Given the description of an element on the screen output the (x, y) to click on. 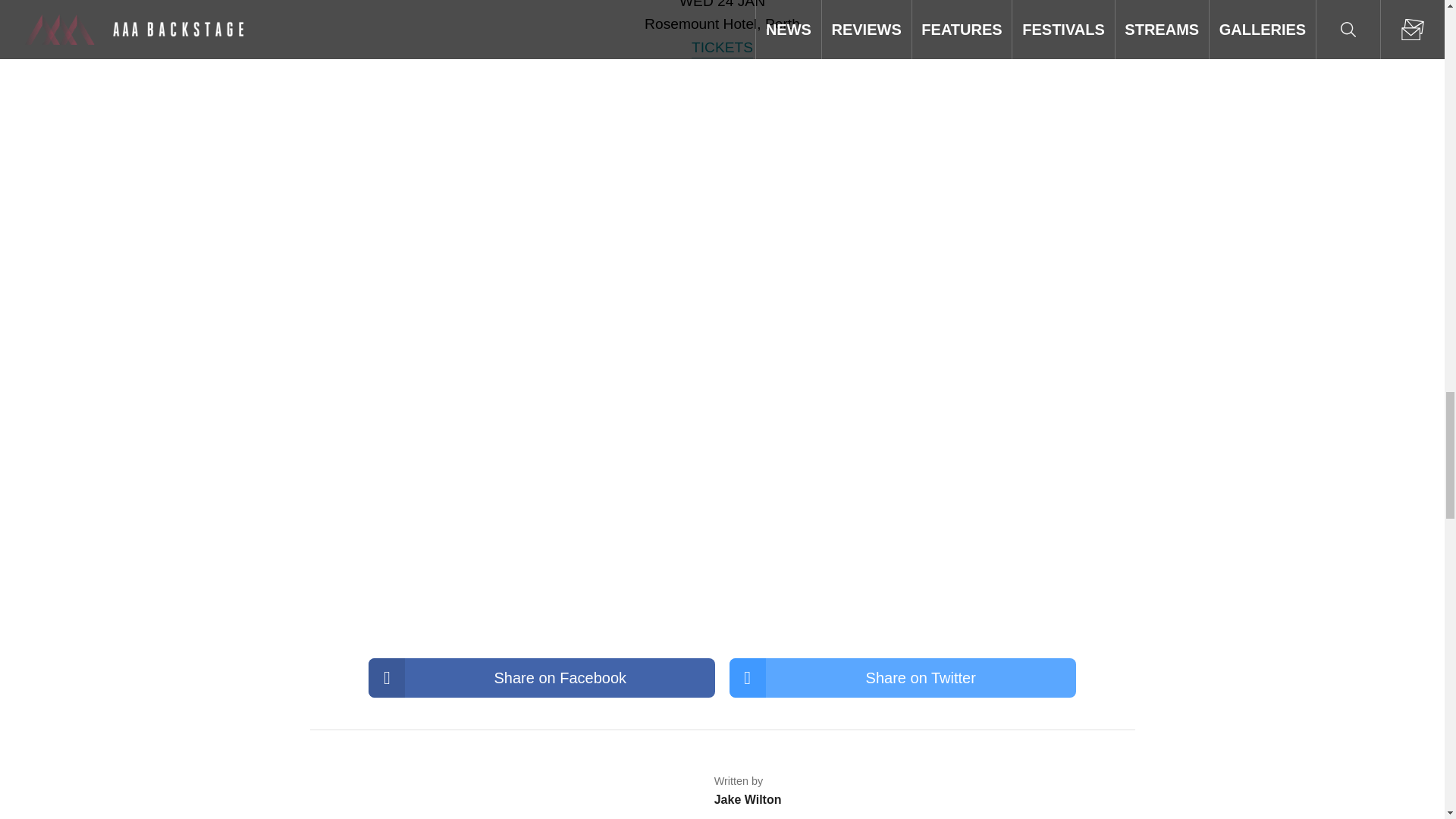
Share on Twitter (902, 677)
TICKETS (721, 47)
Share on Facebook (541, 677)
